Given the description of an element on the screen output the (x, y) to click on. 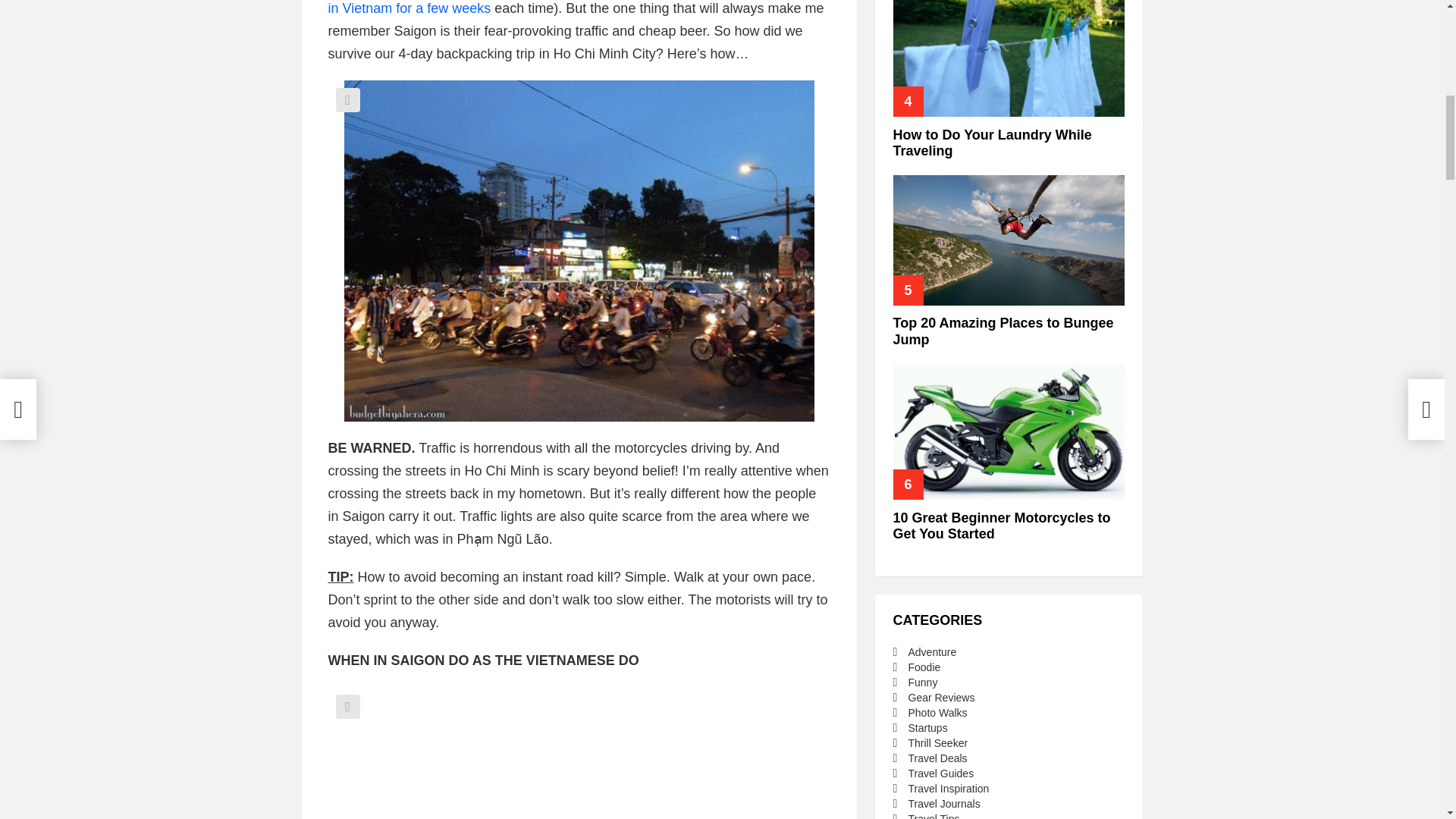
rent a motorbike in Vietnam for a few weeks (574, 7)
Share (346, 99)
